Given the description of an element on the screen output the (x, y) to click on. 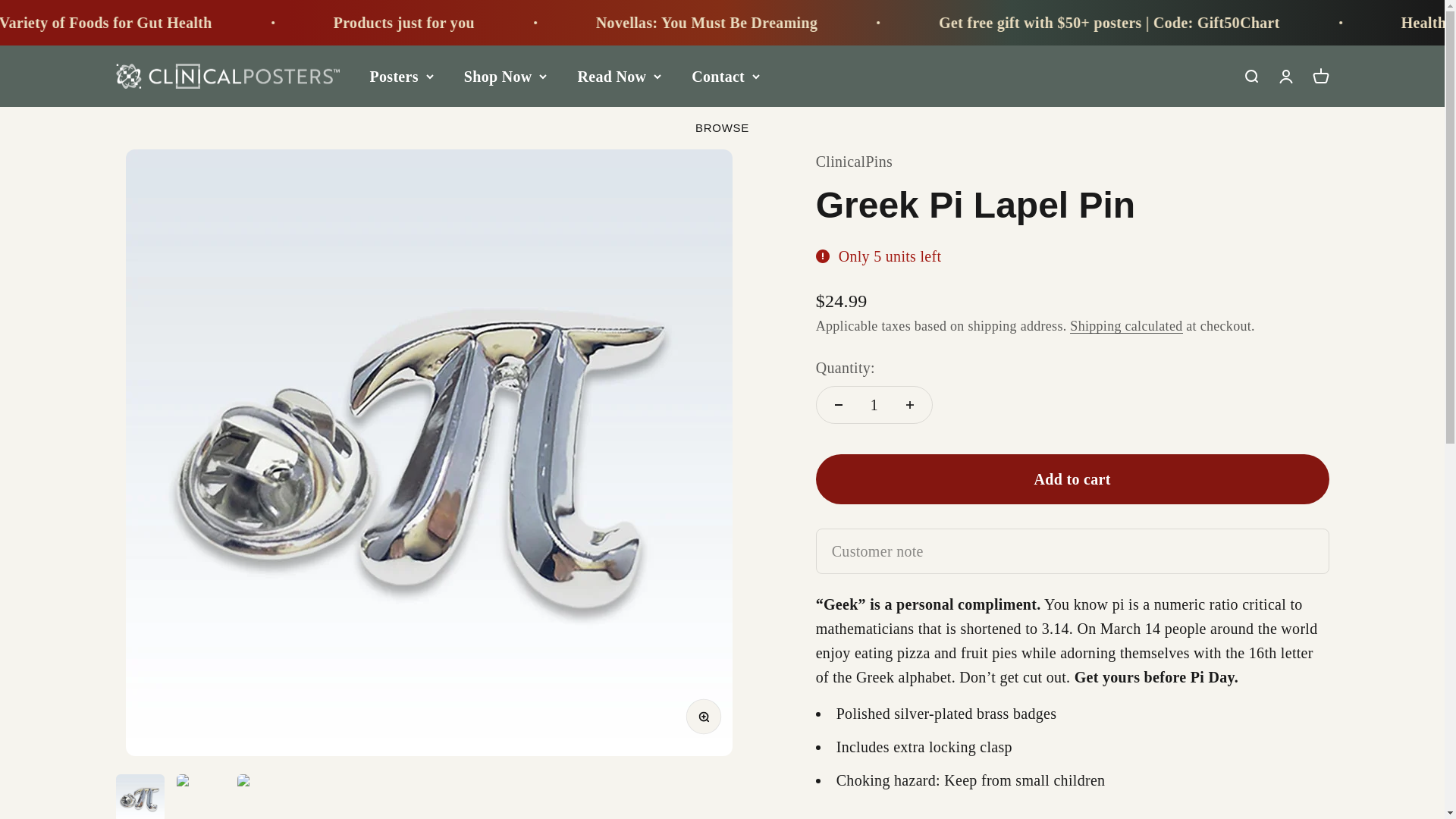
Health: Eat a Variety of Foods for Gut Health (365, 22)
Novellas: You Must Be Dreaming (1010, 22)
Gift50Chart (52, 22)
Products just for you (709, 22)
Apply code (11, 22)
